Given the description of an element on the screen output the (x, y) to click on. 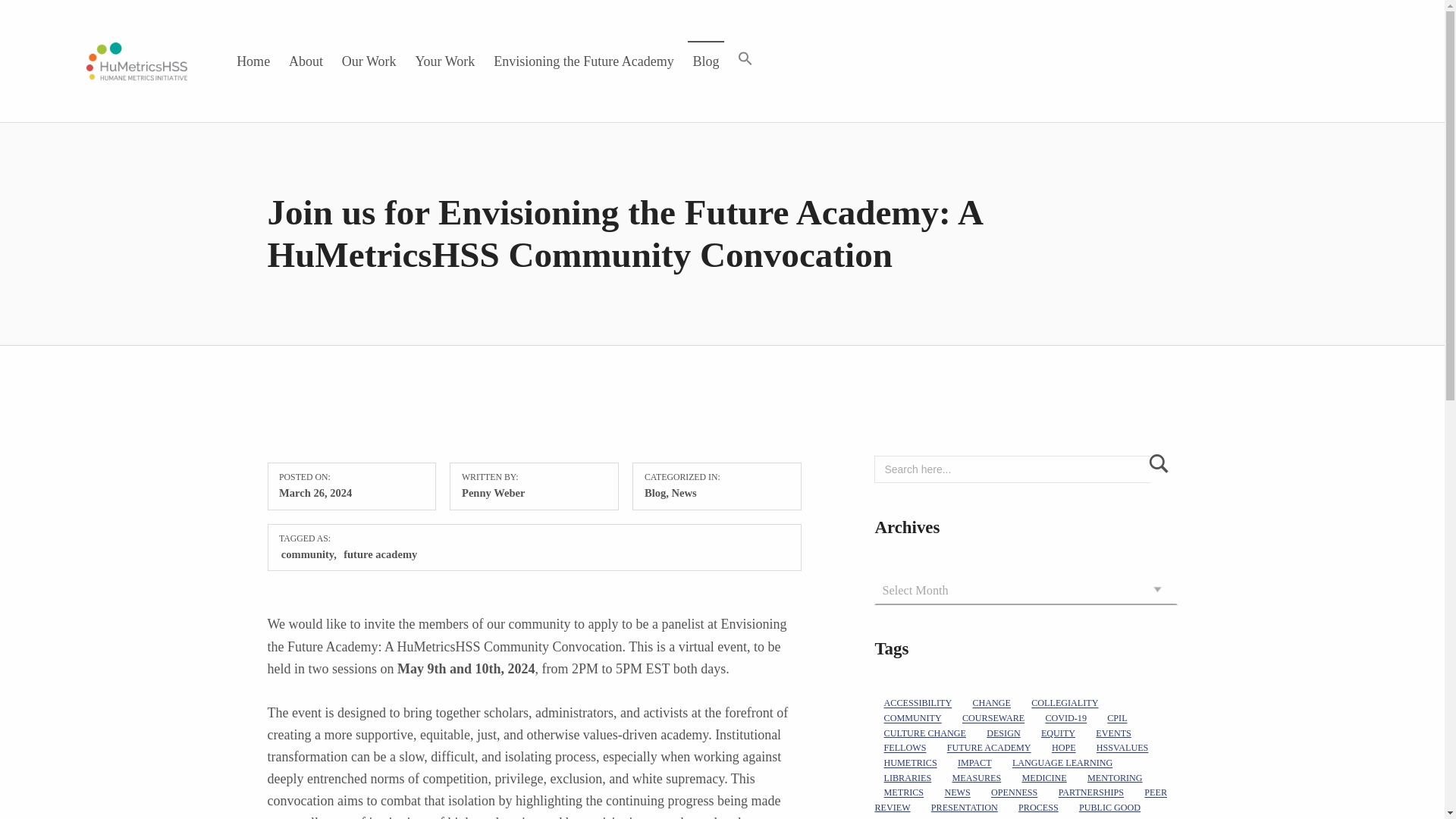
News (684, 492)
Our Work (368, 60)
Blog (706, 60)
About (306, 60)
Home (253, 60)
Envisioning the Future Academy (582, 60)
March 26, 2024 (315, 492)
Blog (655, 492)
Penny Weber (492, 492)
Posted on: March 26, 2024 (315, 492)
Your Work (445, 60)
